Given the description of an element on the screen output the (x, y) to click on. 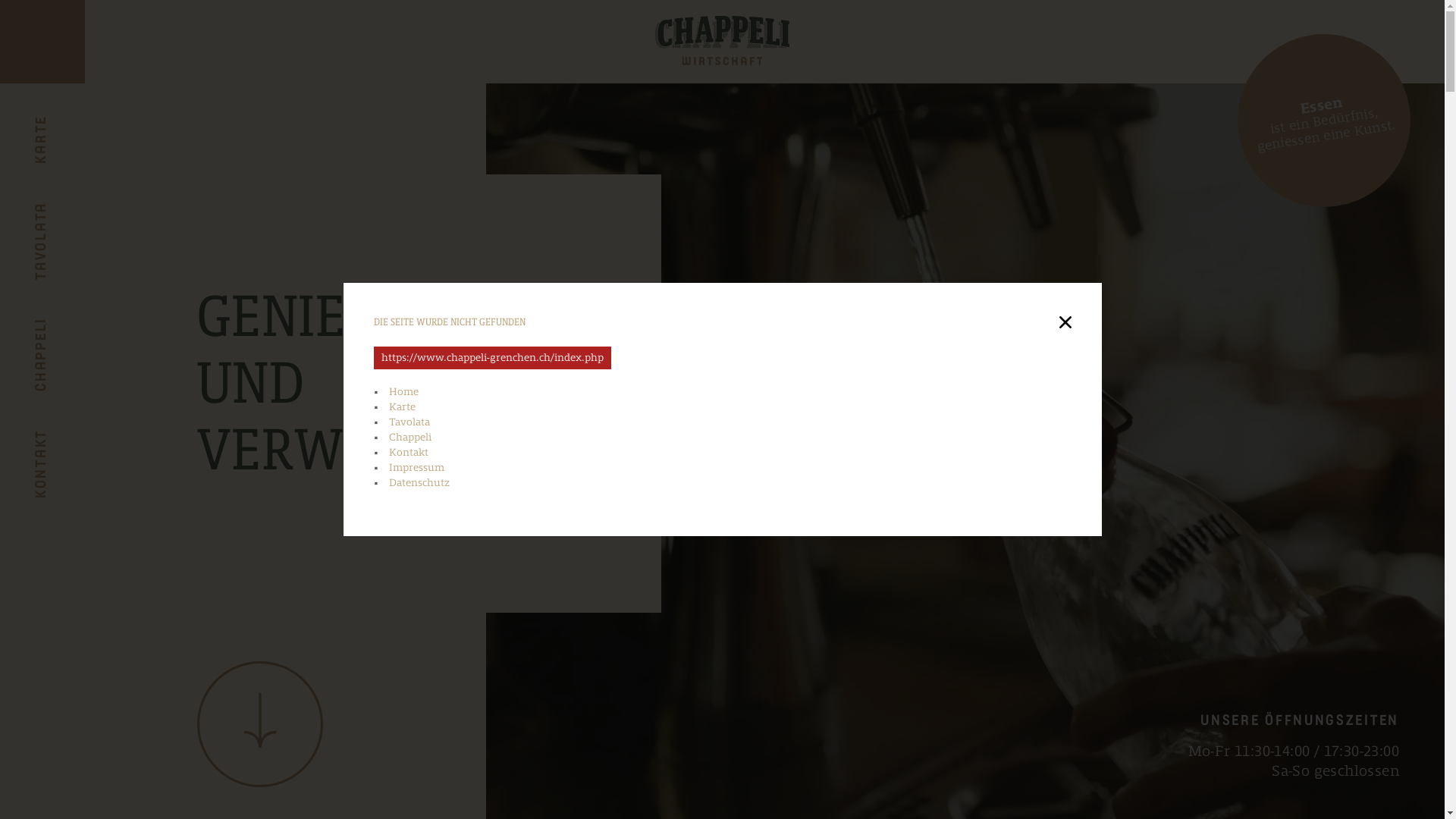
Impressum Element type: text (415, 467)
CHAPPELI Element type: text (67, 328)
Chappeli Grenchen Element type: hover (722, 40)
TAVOLATA Element type: text (69, 213)
Tavolata Element type: text (408, 421)
Home Element type: text (402, 391)
Datenschutz Element type: text (418, 482)
Karte Element type: text (401, 406)
KARTE Element type: text (54, 127)
Chappeli Element type: text (409, 436)
KONTAKT Element type: text (64, 441)
Kontakt Element type: text (407, 452)
